Given the description of an element on the screen output the (x, y) to click on. 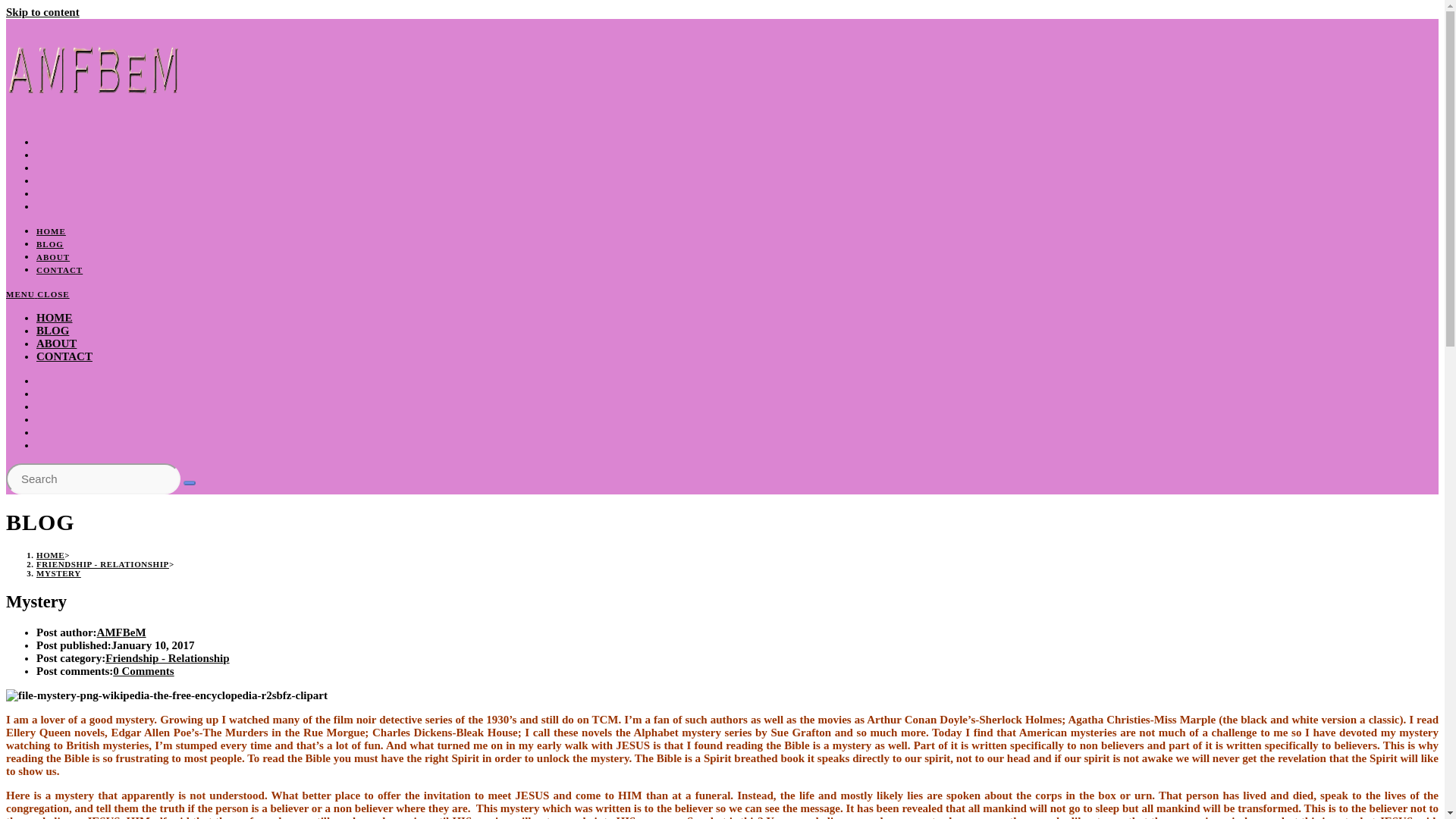
MENU CLOSE (37, 293)
CONTACT (64, 356)
Skip to content (42, 11)
ABOUT (52, 256)
FRIENDSHIP - RELATIONSHIP (102, 563)
BLOG (52, 330)
Posts by AMFBeM (122, 632)
HOME (50, 230)
Friendship - Relationship (166, 657)
HOME (54, 317)
BLOG (50, 243)
CONTACT (59, 269)
AMFBeM (122, 632)
HOME (50, 554)
MYSTERY (58, 573)
